Given the description of an element on the screen output the (x, y) to click on. 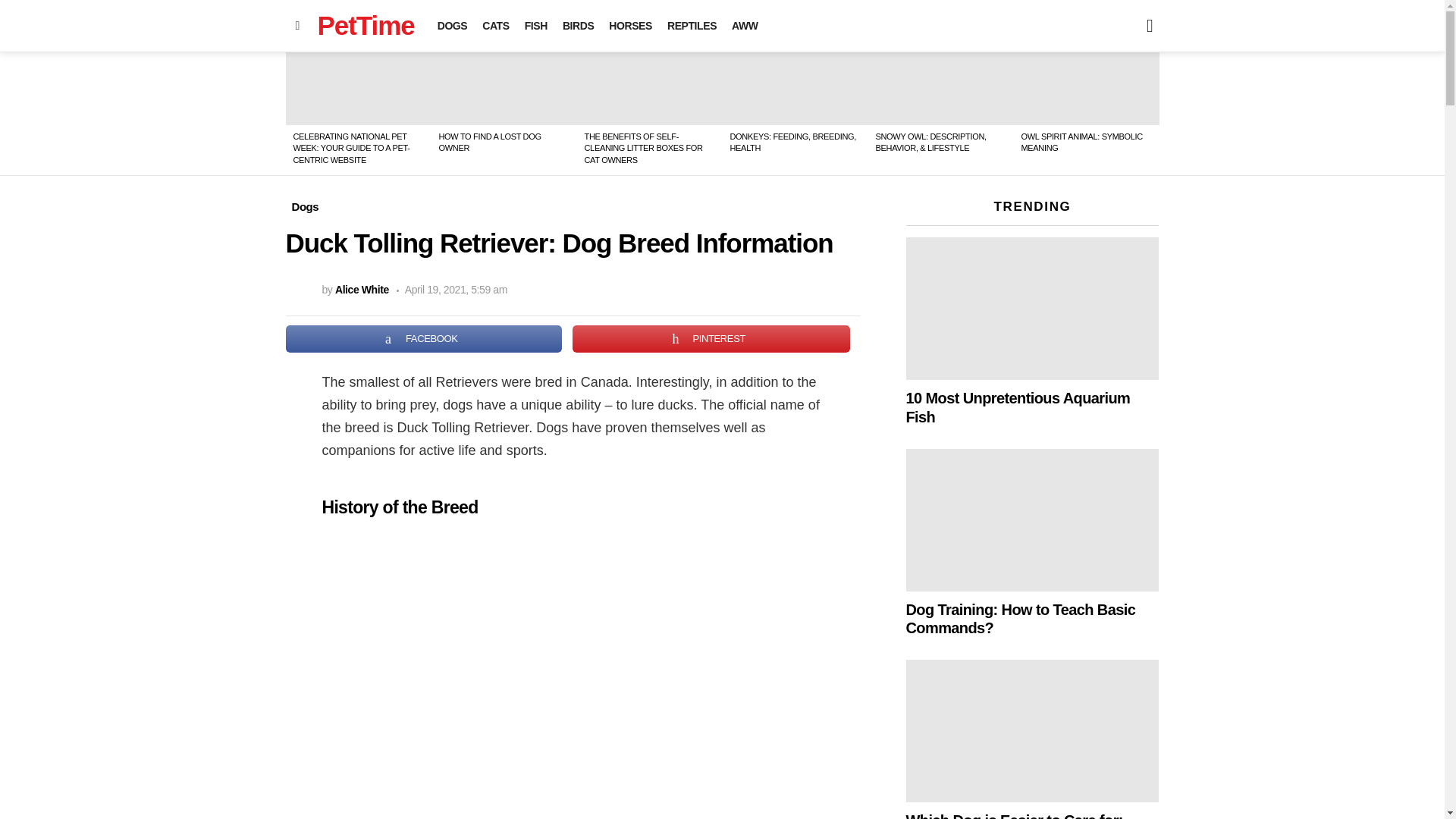
THE BENEFITS OF SELF-CLEANING LITTER BOXES FOR CAT OWNERS (642, 147)
The Benefits of Self-Cleaning Litter Boxes for Cat Owners (649, 88)
BIRDS (577, 25)
Share on Pinterest (711, 338)
Dogs (304, 207)
PetTime (365, 25)
How to Find a Lost Dog Owner (503, 88)
HOW TO FIND A LOST DOG OWNER (489, 141)
DONKEYS: FEEDING, BREEDING, HEALTH (792, 141)
Donkeys: Feeding, Breeding, Health (794, 88)
REPTILES (691, 25)
FACEBOOK (422, 338)
HORSES (630, 25)
OWL SPIRIT ANIMAL: SYMBOLIC MEANING (1080, 141)
